Given the description of an element on the screen output the (x, y) to click on. 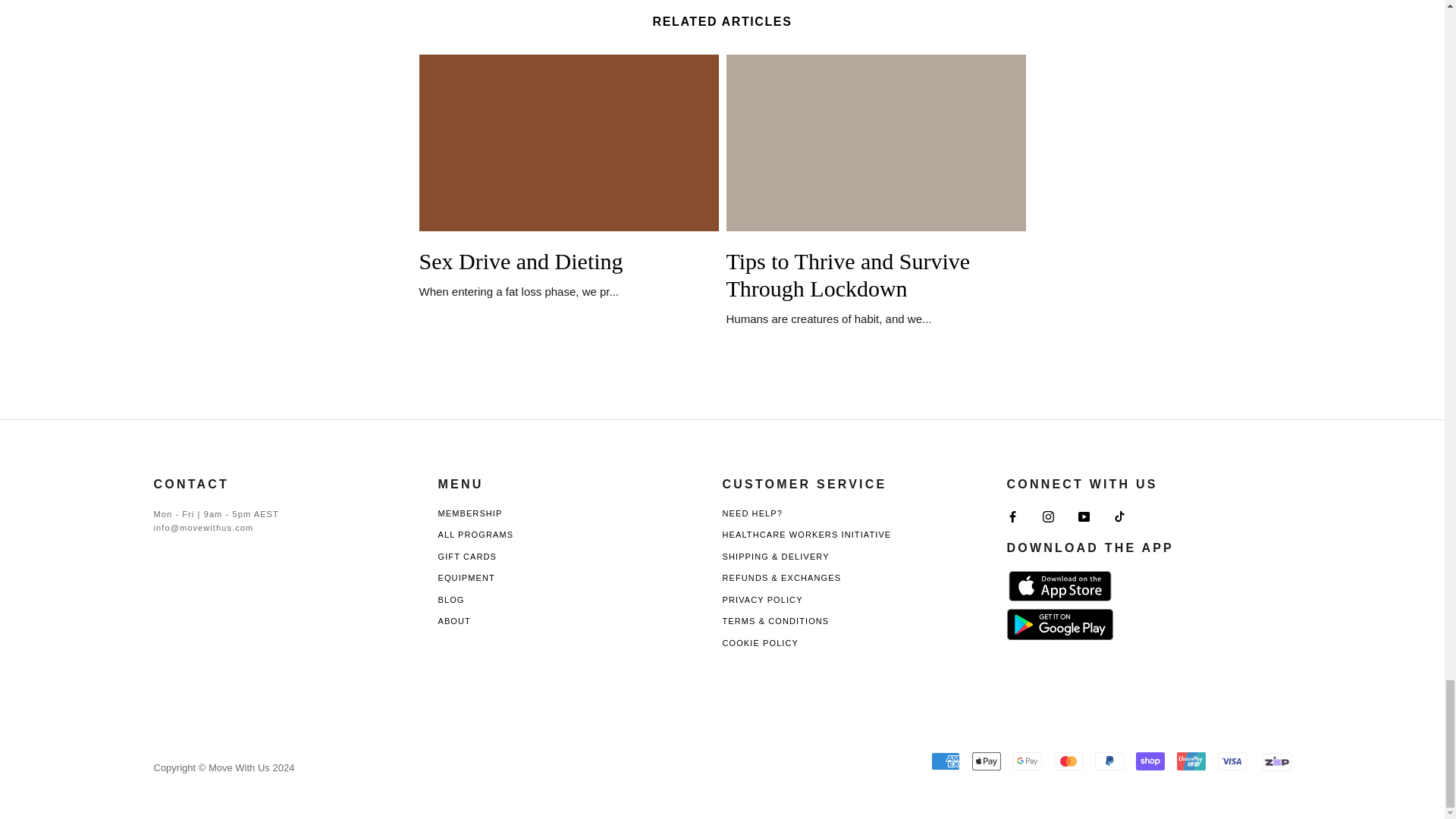
PayPal (1109, 761)
Google Pay (1027, 761)
Mastercard (1068, 761)
Apple Pay (986, 761)
Shop Pay (1149, 761)
Visa (1231, 761)
Union Pay (1190, 761)
American Express (945, 761)
